Given the description of an element on the screen output the (x, y) to click on. 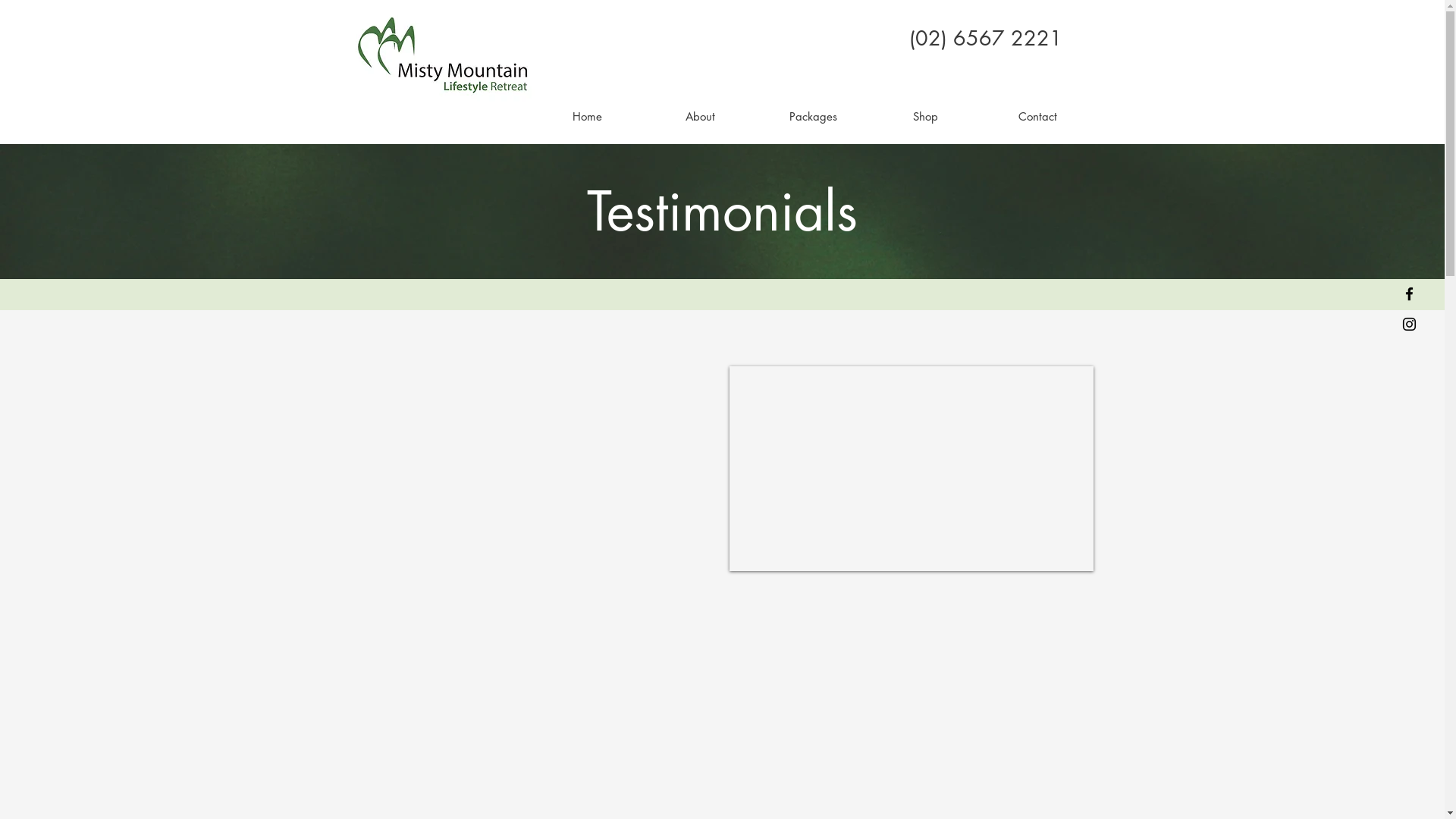
Packages Element type: text (812, 116)
Contact Element type: text (1037, 116)
Home Element type: text (586, 116)
(02) 6567 2221 Element type: text (984, 38)
Shop Element type: text (925, 116)
